Given the description of an element on the screen output the (x, y) to click on. 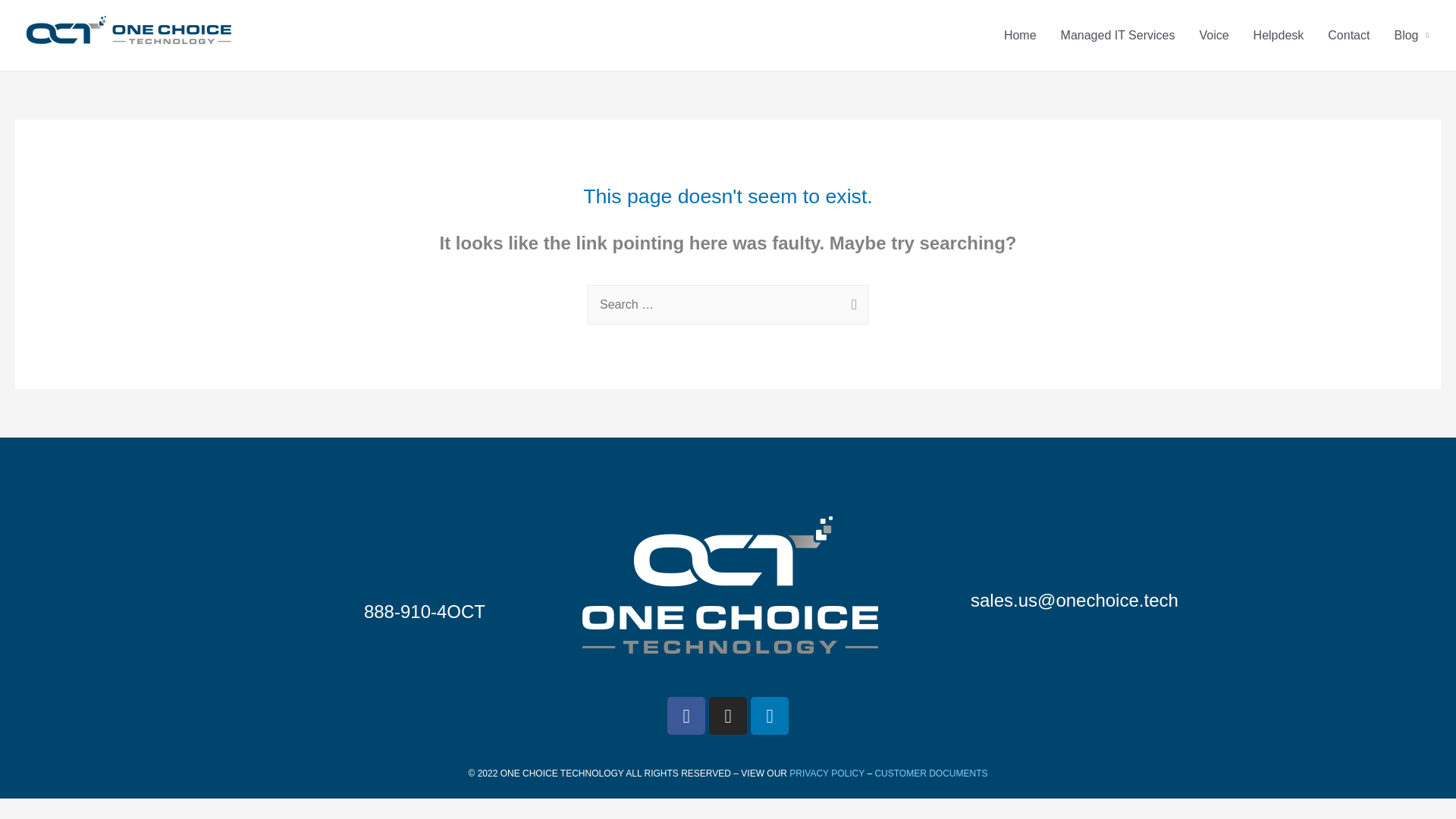
Helpdesk (1278, 34)
Managed IT Services (1118, 34)
Contact (1348, 34)
PRIVACY POLICY (826, 773)
Home (1019, 34)
CUSTOMER DOCUMENTS (931, 773)
Voice (1213, 34)
Blog (1411, 34)
